Given the description of an element on the screen output the (x, y) to click on. 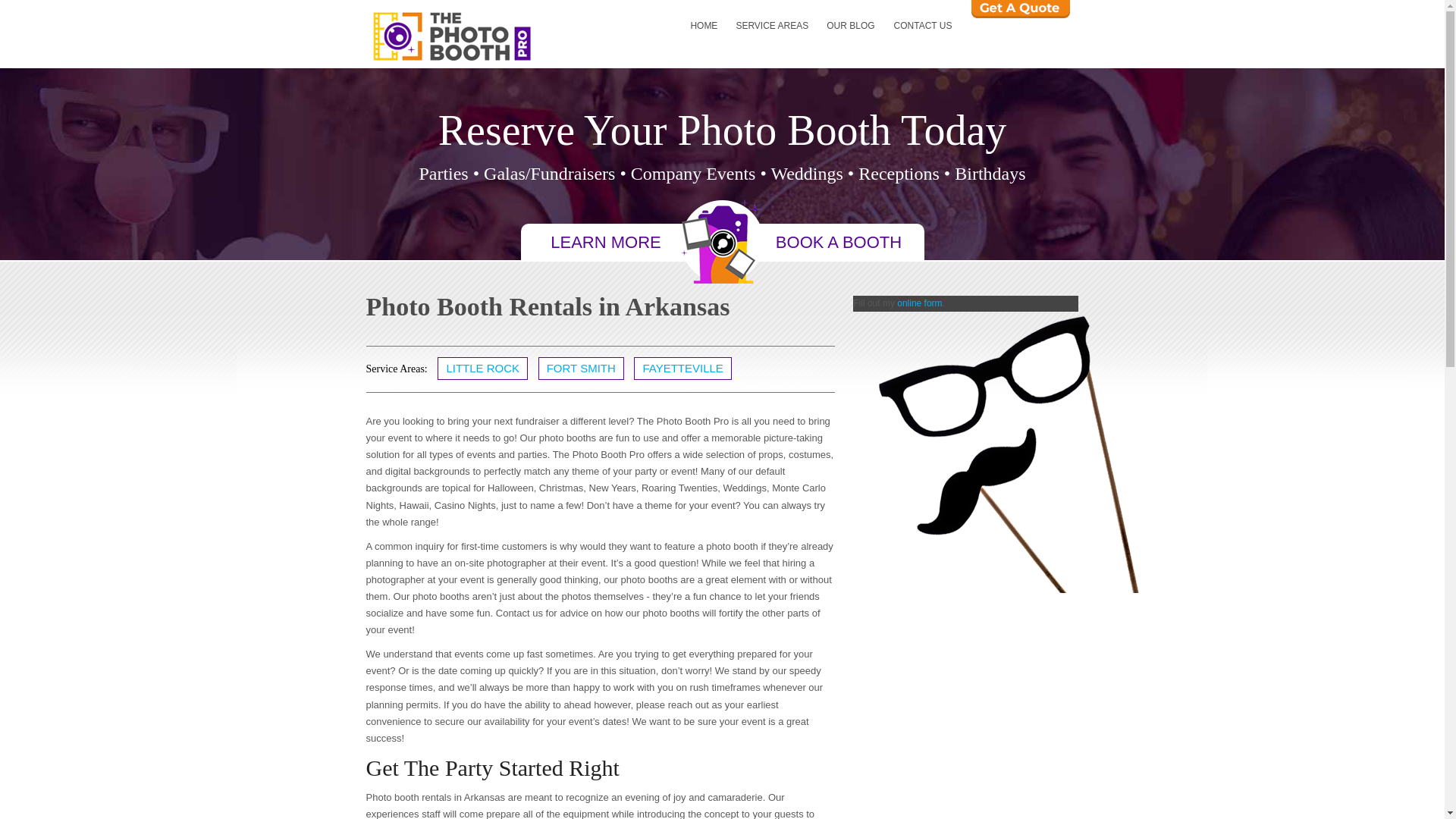
BOOK A BOOTH (839, 241)
SCROLL DOWN (721, 241)
FORT SMITH (581, 368)
SERVICE AREAS (771, 27)
online form (919, 303)
OUR BLOG (850, 27)
LITTLE ROCK (482, 368)
Request Quote (1018, 9)
LEARN MORE (604, 241)
FAYETTEVILLE (681, 368)
CONTACT US (922, 27)
